Given the description of an element on the screen output the (x, y) to click on. 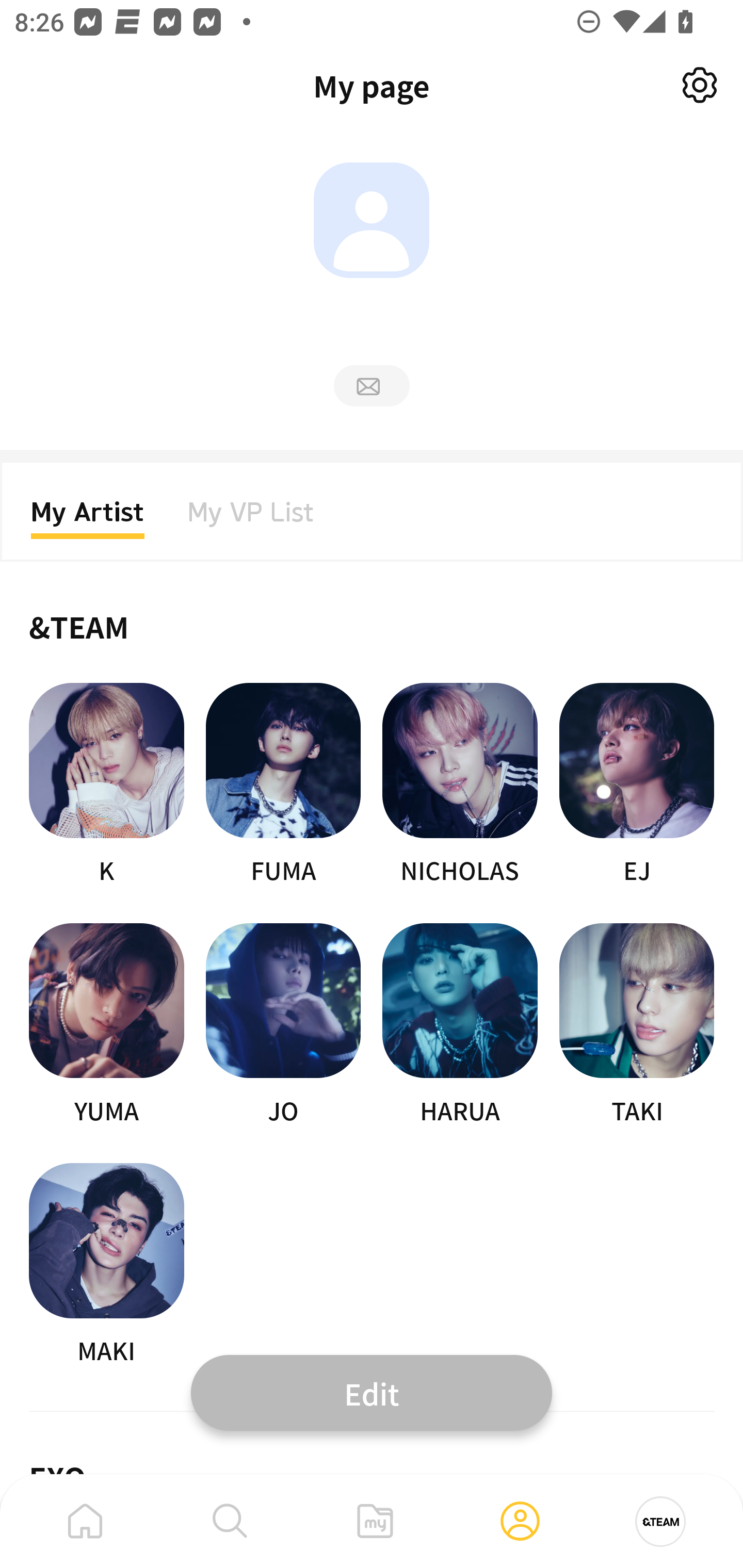
My Artist (87, 517)
My VP List (250, 517)
K (106, 785)
FUMA (282, 785)
NICHOLAS (459, 785)
EJ (636, 785)
YUMA (106, 1025)
JO (282, 1025)
HARUA (459, 1025)
TAKI (636, 1025)
MAKI (106, 1265)
Edit (371, 1392)
